Given the description of an element on the screen output the (x, y) to click on. 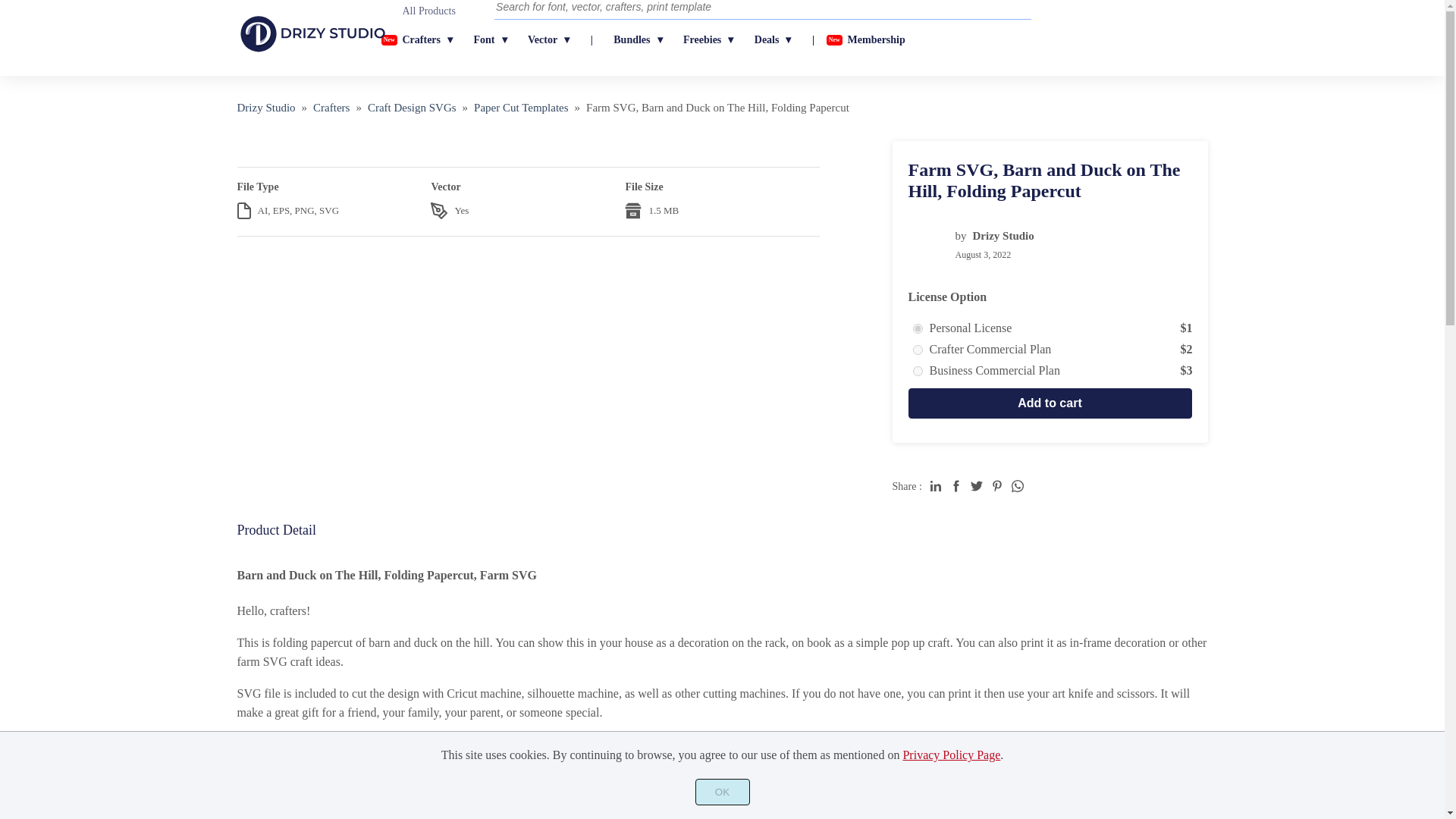
Craft Design SVGs (412, 107)
Go to Homepage (311, 52)
Tweet it! (976, 486)
personal-license (917, 328)
Homepage (265, 107)
Font (490, 40)
crafter-commercial-plan (917, 349)
Open Customer Account Navigation (1076, 30)
Paper Cut Templates (520, 107)
Share to Facebook (955, 486)
